Given the description of an element on the screen output the (x, y) to click on. 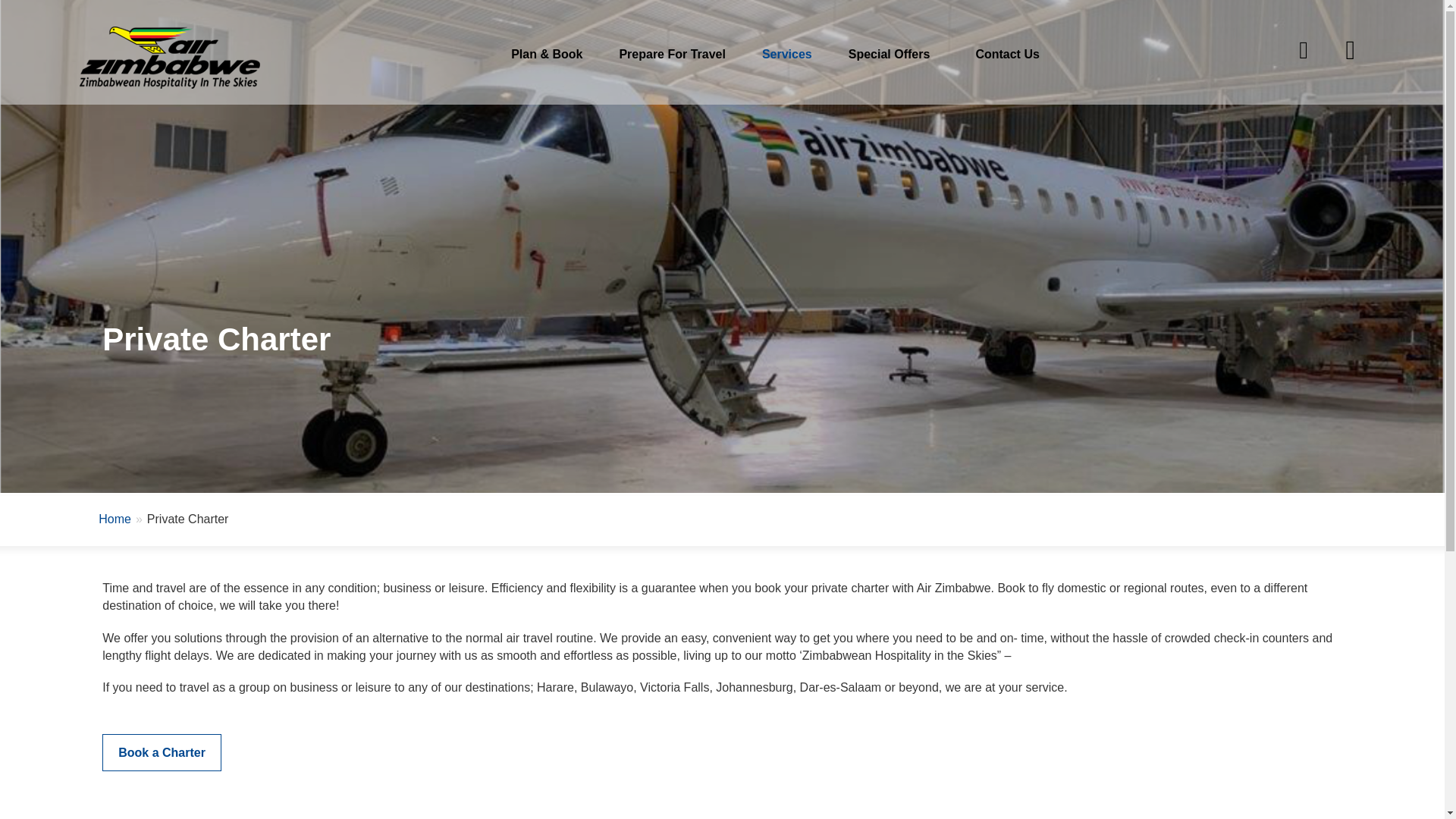
Toggle submenu (1350, 44)
Services (782, 54)
Search (1348, 19)
Enter the terms you wish to search for. (1293, 44)
Special Offers (889, 54)
Home (176, 57)
Contact Us (1006, 54)
Prepare For Travel (667, 54)
